Given the description of an element on the screen output the (x, y) to click on. 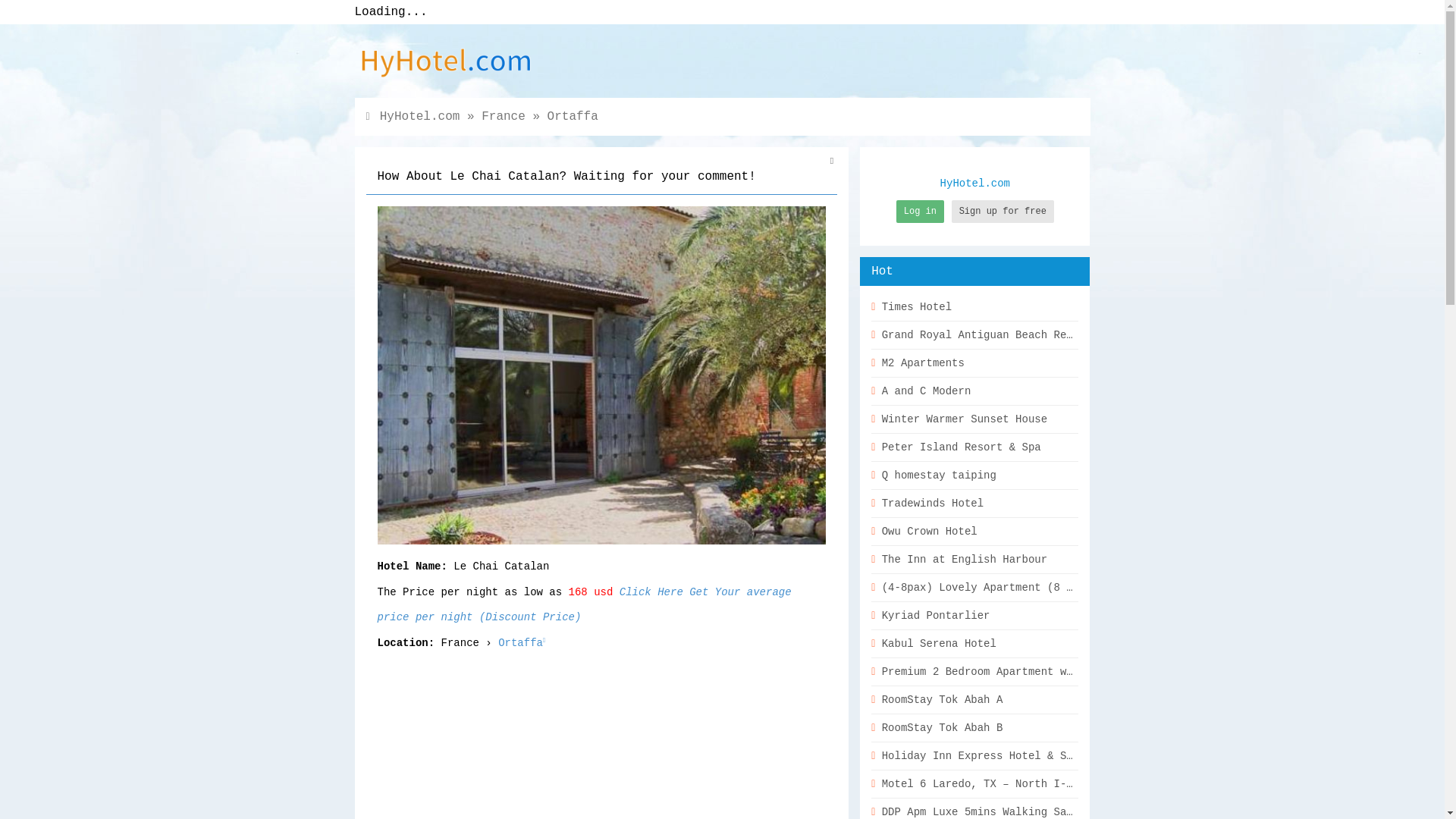
M2 Apartments (974, 363)
France (503, 116)
Ortaffa (572, 116)
Sign up for free (1003, 210)
RoomStay Tok Abah A (974, 700)
Winter Warmer Sunset House (974, 419)
Log in (919, 210)
Ortaffa (520, 643)
RoomStay Tok Abah B (974, 728)
Owu Crown Hotel (974, 531)
Grand Royal Antiguan Beach Resort (974, 335)
Premium 2 Bedroom Apartment with Panoramic Views (974, 672)
HyHotel.com (420, 116)
A and C Modern (974, 391)
Q homestay taiping (974, 475)
